Given the description of an element on the screen output the (x, y) to click on. 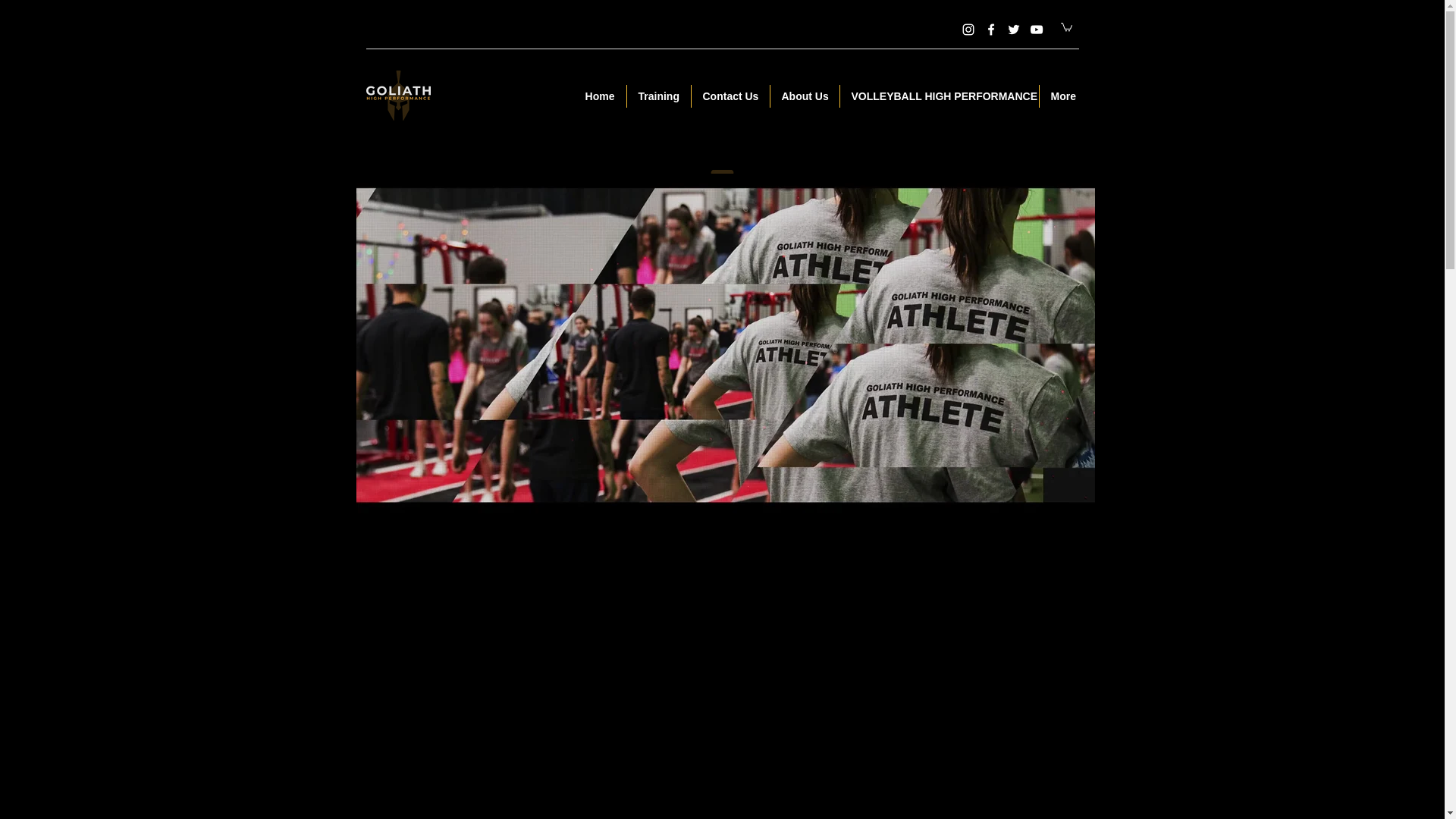
VOLLEYBALL HIGH PERFORMANCE (939, 96)
Home (599, 96)
Contact Us (730, 96)
Training (658, 96)
About Us (805, 96)
